Given the description of an element on the screen output the (x, y) to click on. 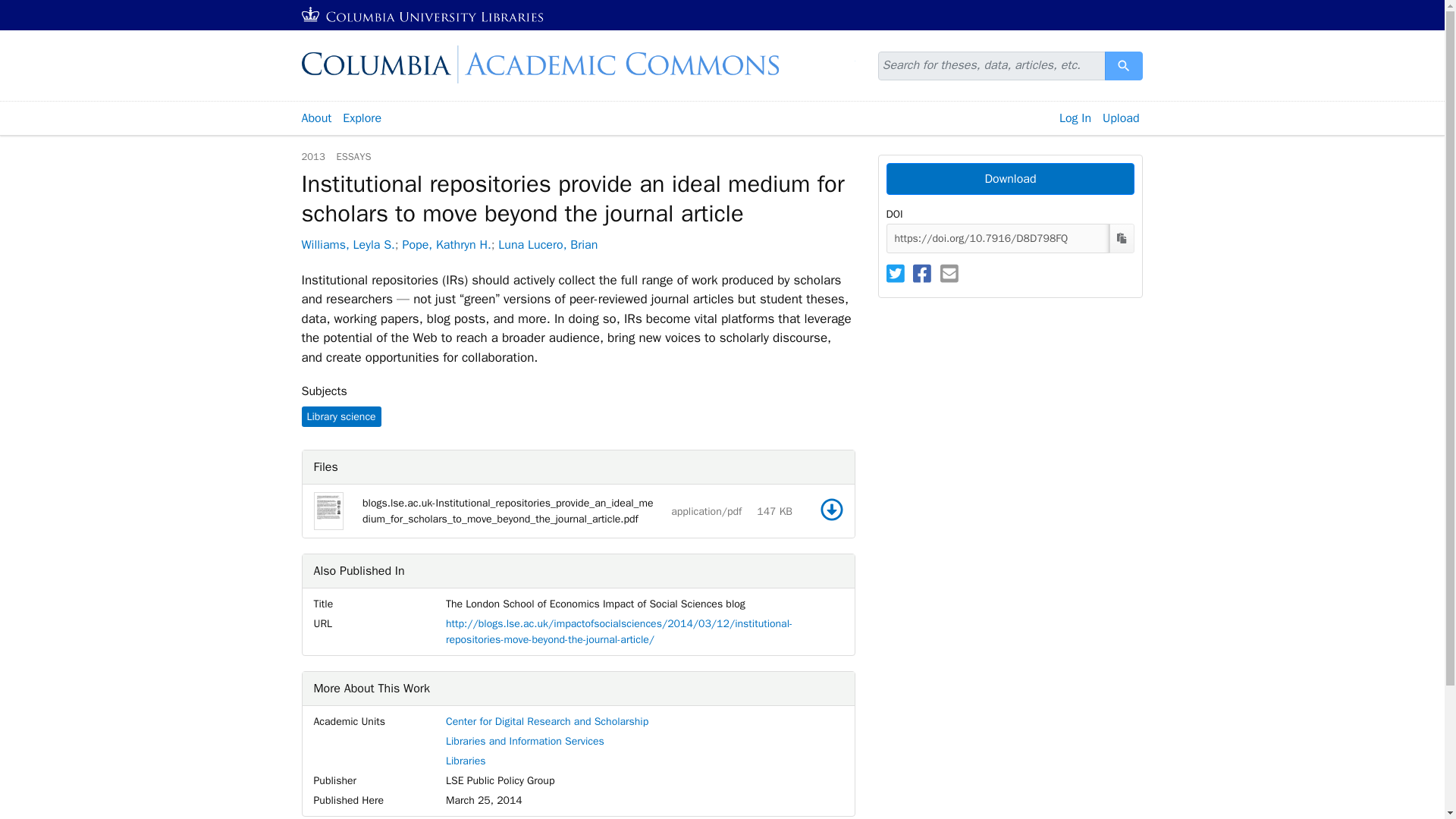
Academic Commons (578, 64)
Libraries and Information Services (524, 740)
Skip to search (36, 9)
Libraries (465, 760)
About (315, 118)
Download file (1123, 65)
Download (832, 508)
Luna Lucero, Brian (1009, 178)
Search (546, 243)
Upload (1123, 65)
Explore (1120, 118)
Log In (362, 118)
Williams, Leyla S. (1074, 118)
Pope, Kathryn H. (347, 243)
